Given the description of an element on the screen output the (x, y) to click on. 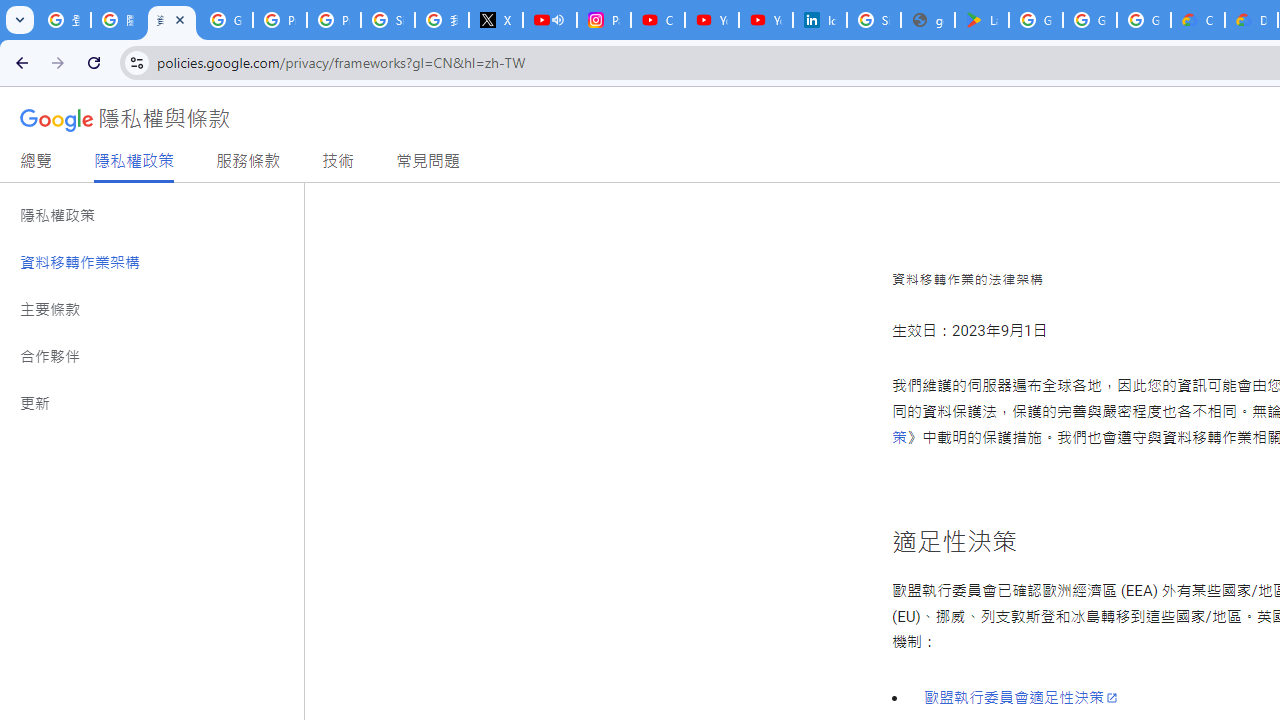
Mute tab (557, 20)
Last Shelter: Survival - Apps on Google Play (981, 20)
